Given the description of an element on the screen output the (x, y) to click on. 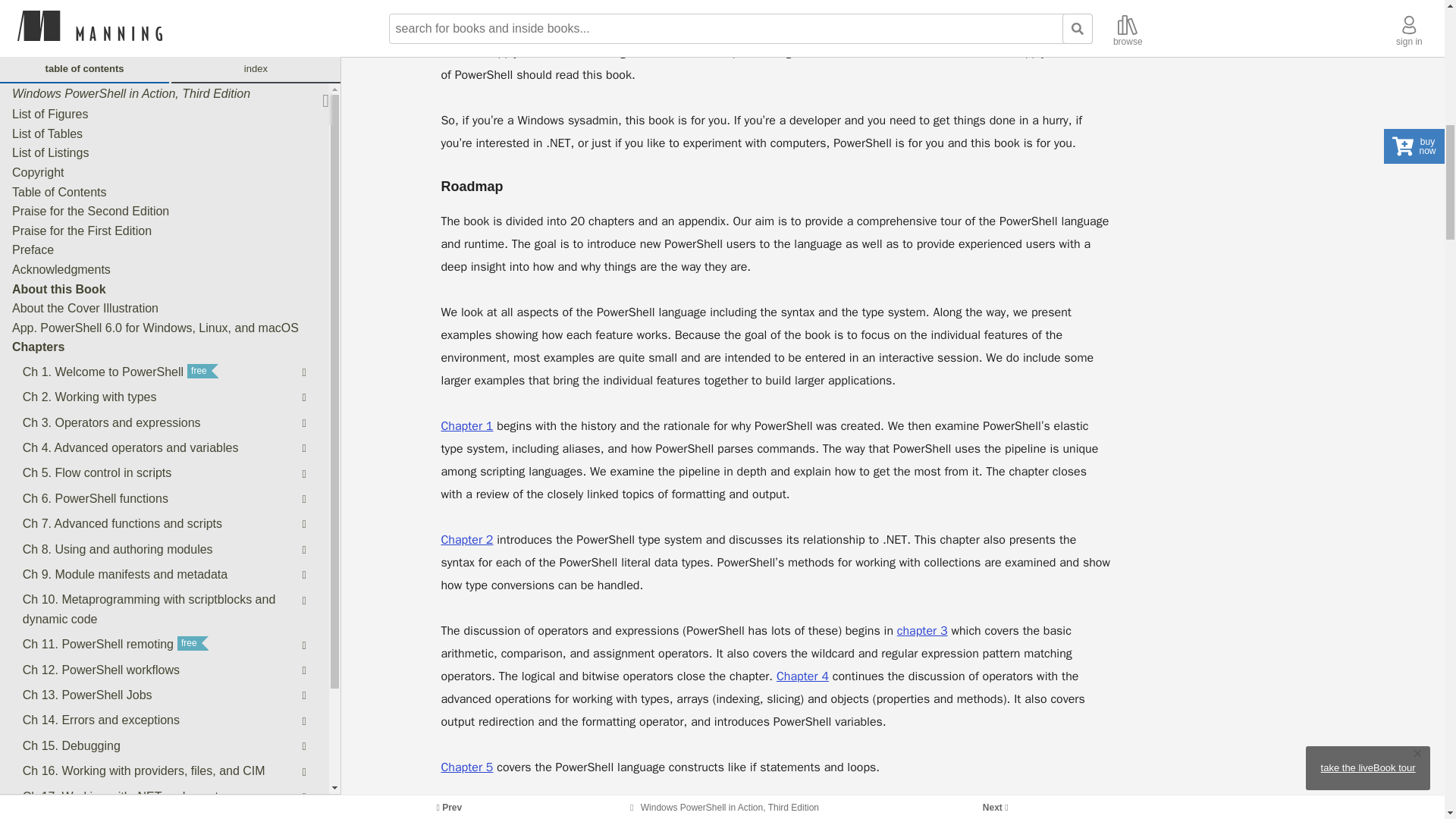
Chapter 5 (467, 767)
chapter 3 (921, 630)
Chapter 1 (467, 426)
Chapter 6 (467, 812)
Chapter 4 (802, 676)
Chapter 2 (467, 539)
